Given the description of an element on the screen output the (x, y) to click on. 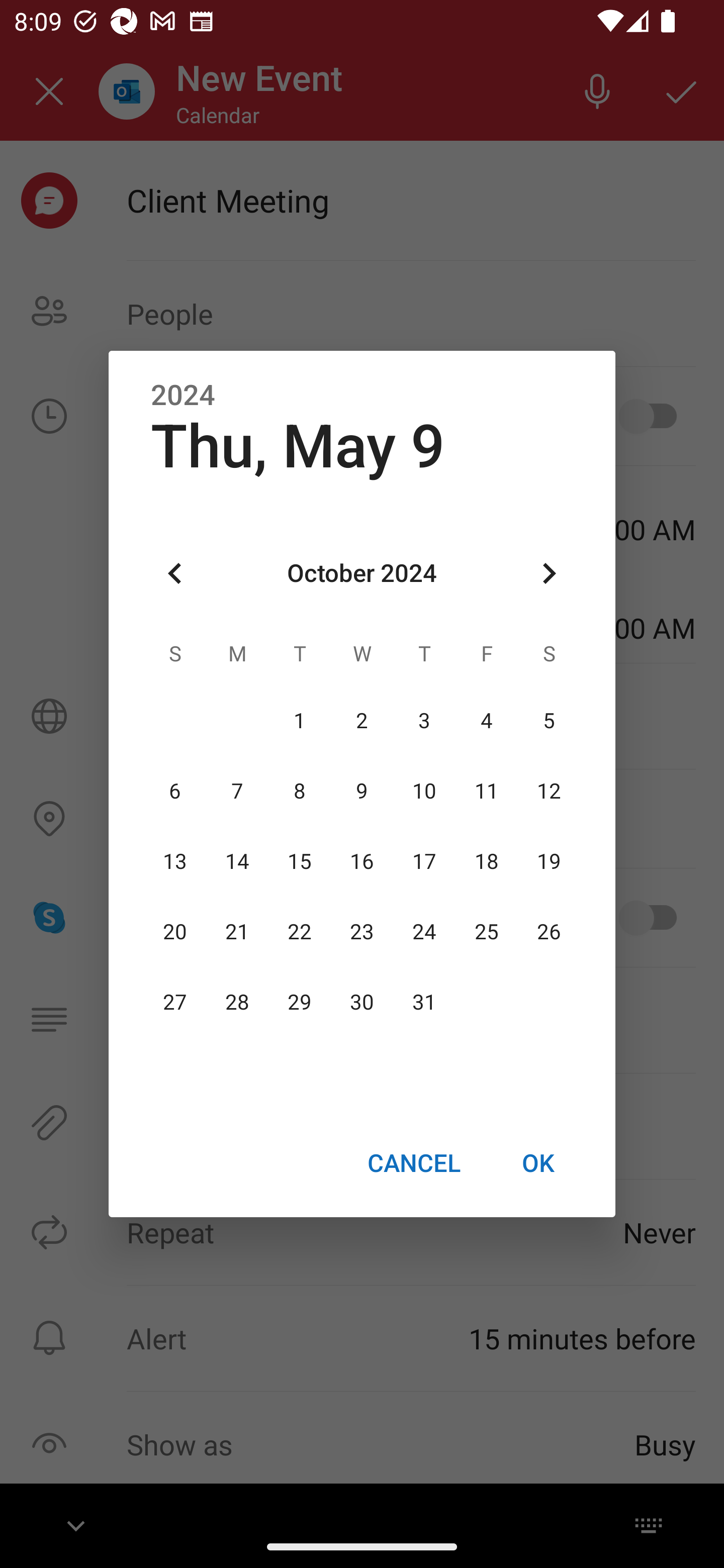
2024 (182, 395)
Thu, May 9 (297, 446)
Previous month (174, 573)
Next month (548, 573)
1 01 October 2024 (299, 720)
2 02 October 2024 (361, 720)
3 03 October 2024 (424, 720)
4 04 October 2024 (486, 720)
5 05 October 2024 (548, 720)
6 06 October 2024 (175, 790)
7 07 October 2024 (237, 790)
8 08 October 2024 (299, 790)
9 09 October 2024 (361, 790)
10 10 October 2024 (424, 790)
11 11 October 2024 (486, 790)
12 12 October 2024 (548, 790)
13 13 October 2024 (175, 861)
14 14 October 2024 (237, 861)
15 15 October 2024 (299, 861)
16 16 October 2024 (361, 861)
17 17 October 2024 (424, 861)
18 18 October 2024 (486, 861)
19 19 October 2024 (548, 861)
20 20 October 2024 (175, 931)
21 21 October 2024 (237, 931)
22 22 October 2024 (299, 931)
23 23 October 2024 (361, 931)
24 24 October 2024 (424, 931)
25 25 October 2024 (486, 931)
26 26 October 2024 (548, 931)
27 27 October 2024 (175, 1002)
28 28 October 2024 (237, 1002)
29 29 October 2024 (299, 1002)
30 30 October 2024 (361, 1002)
31 31 October 2024 (424, 1002)
CANCEL (413, 1162)
OK (537, 1162)
